Given the description of an element on the screen output the (x, y) to click on. 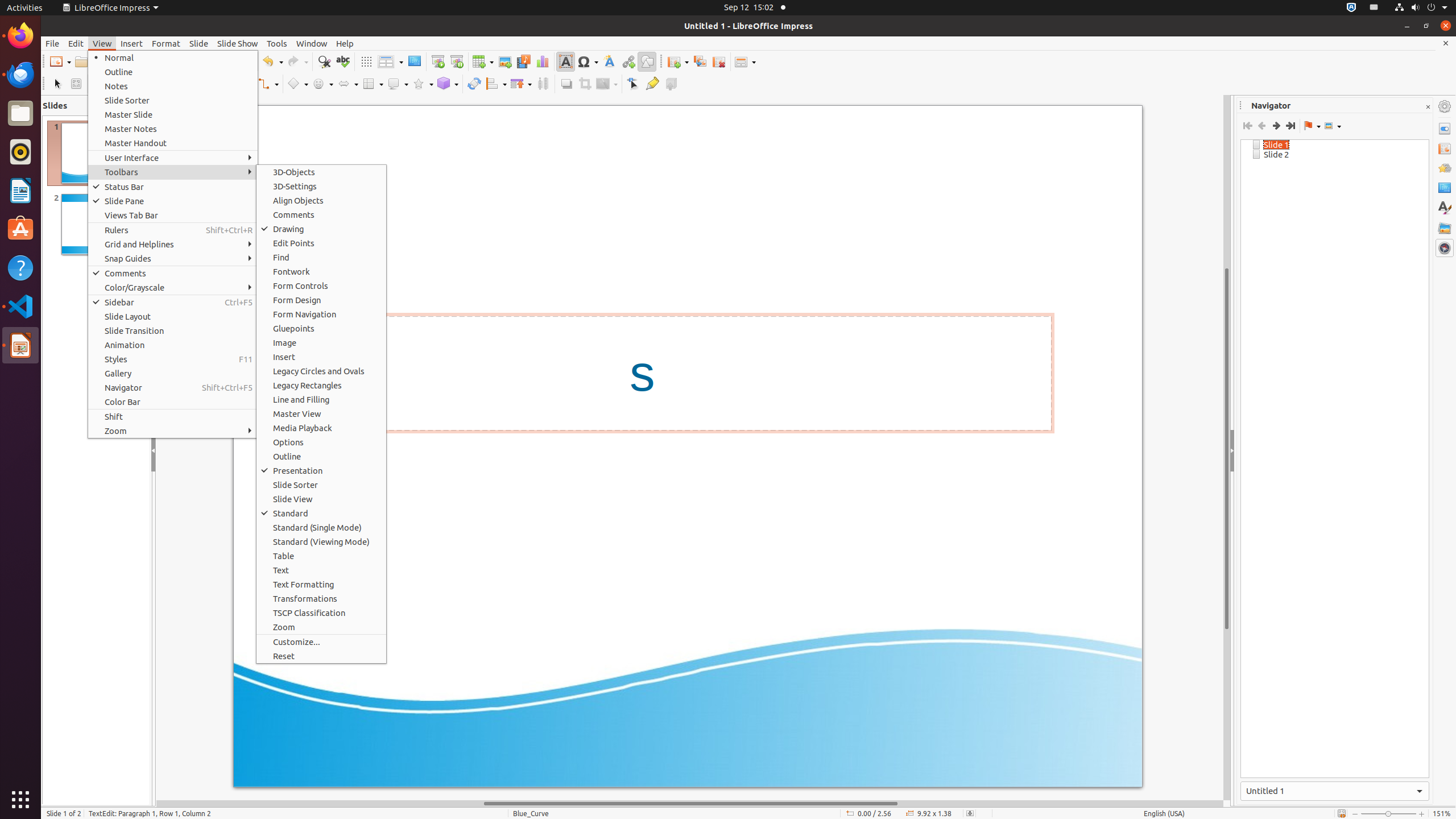
Zoom Element type: check-menu-item (321, 626)
Standard (Viewing Mode) Element type: check-menu-item (321, 541)
Grid and Helplines Element type: menu (172, 244)
Standard (Single Mode) Element type: check-menu-item (321, 527)
Slide Layout Element type: menu-item (172, 316)
